Given the description of an element on the screen output the (x, y) to click on. 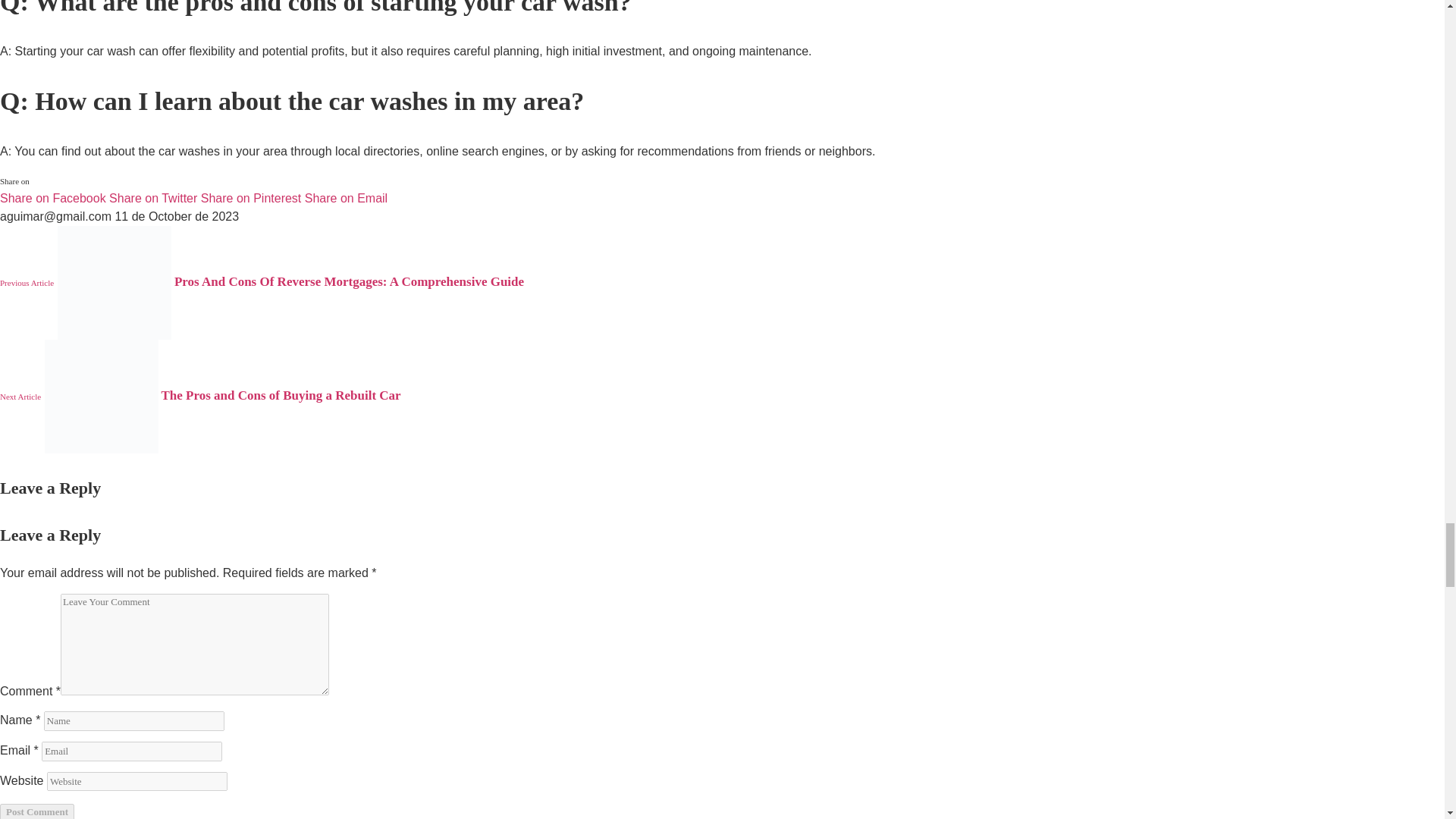
Post Comment (37, 811)
